Given the description of an element on the screen output the (x, y) to click on. 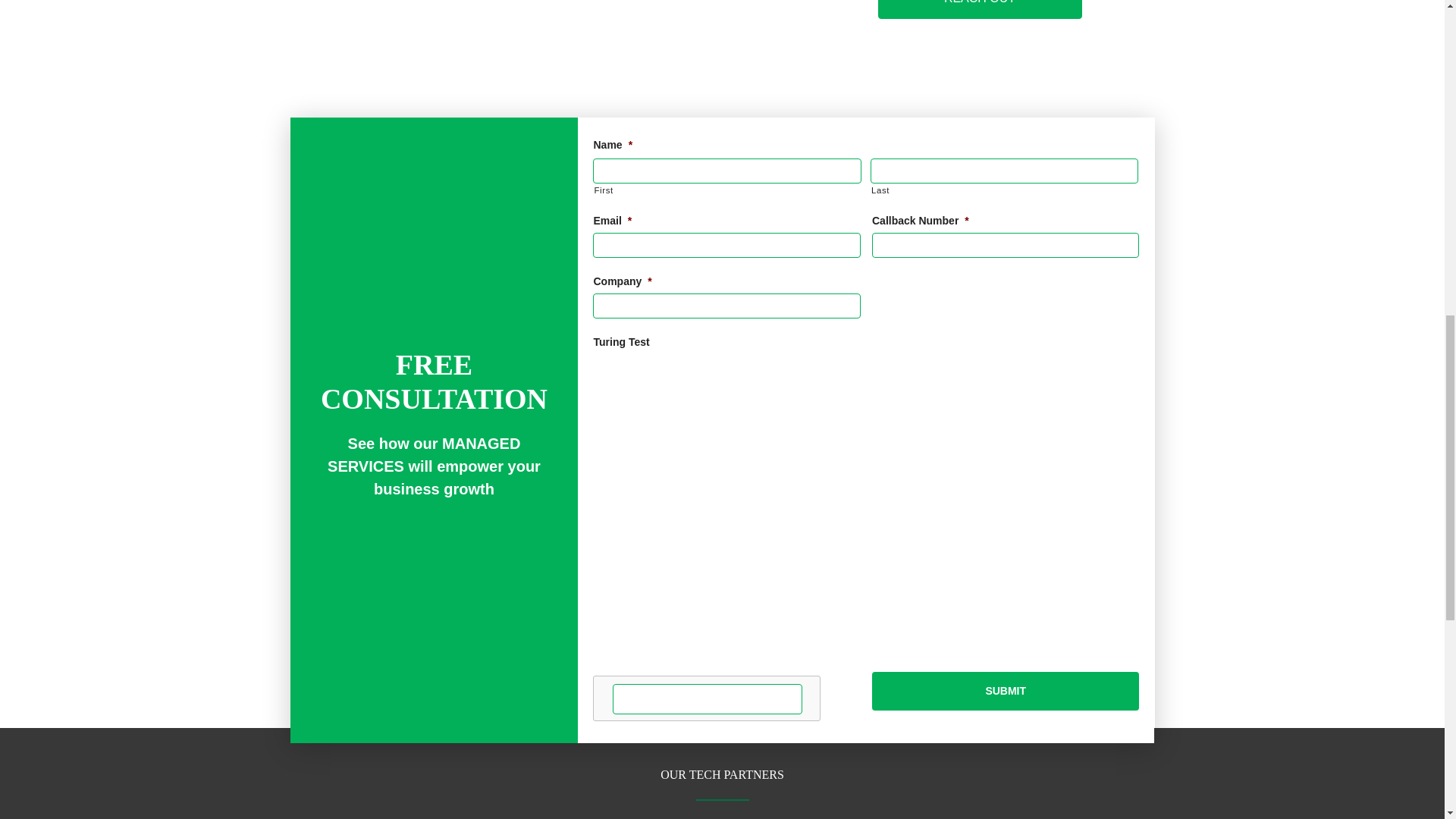
Submit (1006, 690)
